Given the description of an element on the screen output the (x, y) to click on. 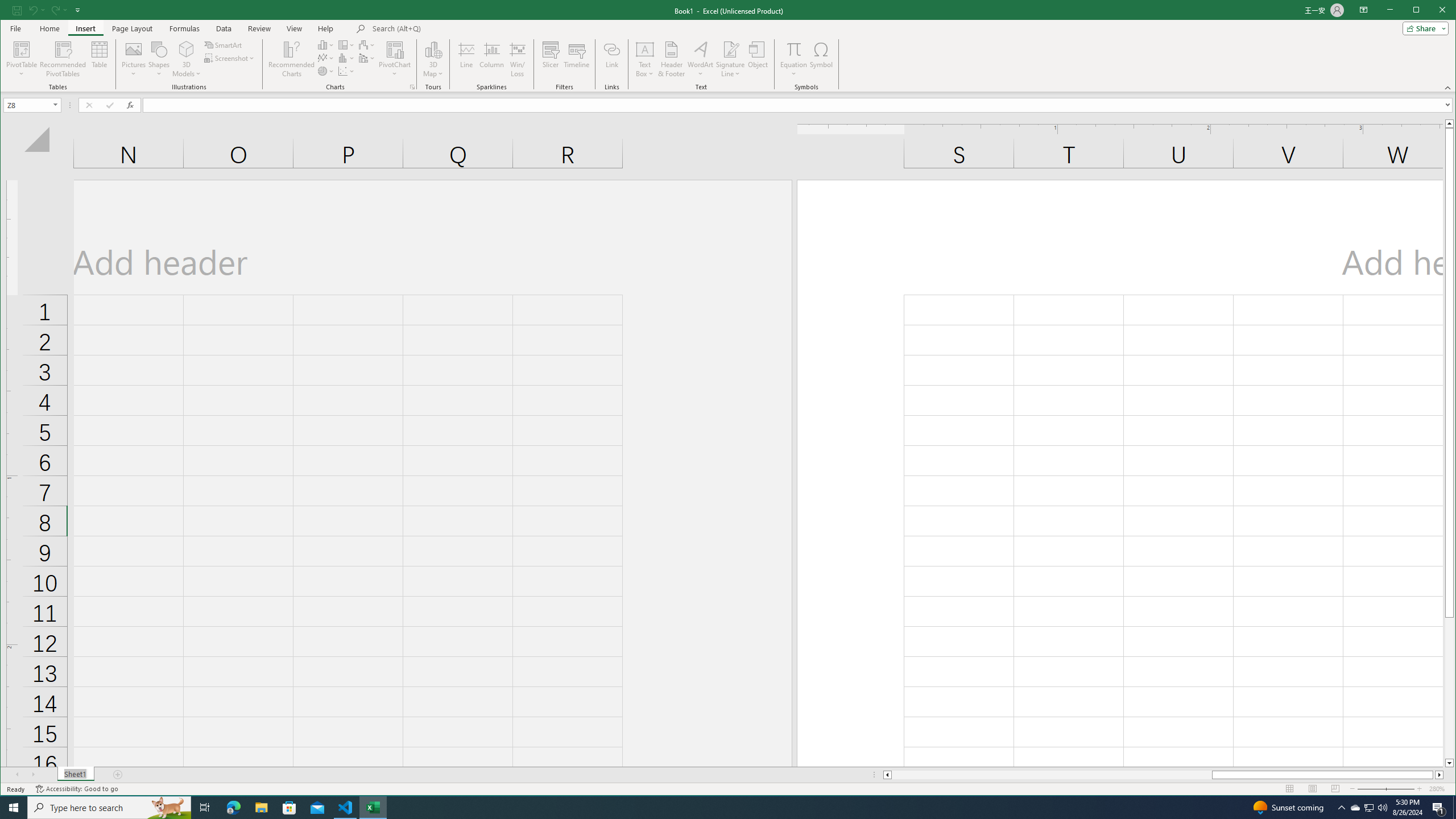
Column (492, 59)
Screenshot (229, 57)
SmartArt... (224, 44)
Microsoft Edge (233, 807)
